Given the description of an element on the screen output the (x, y) to click on. 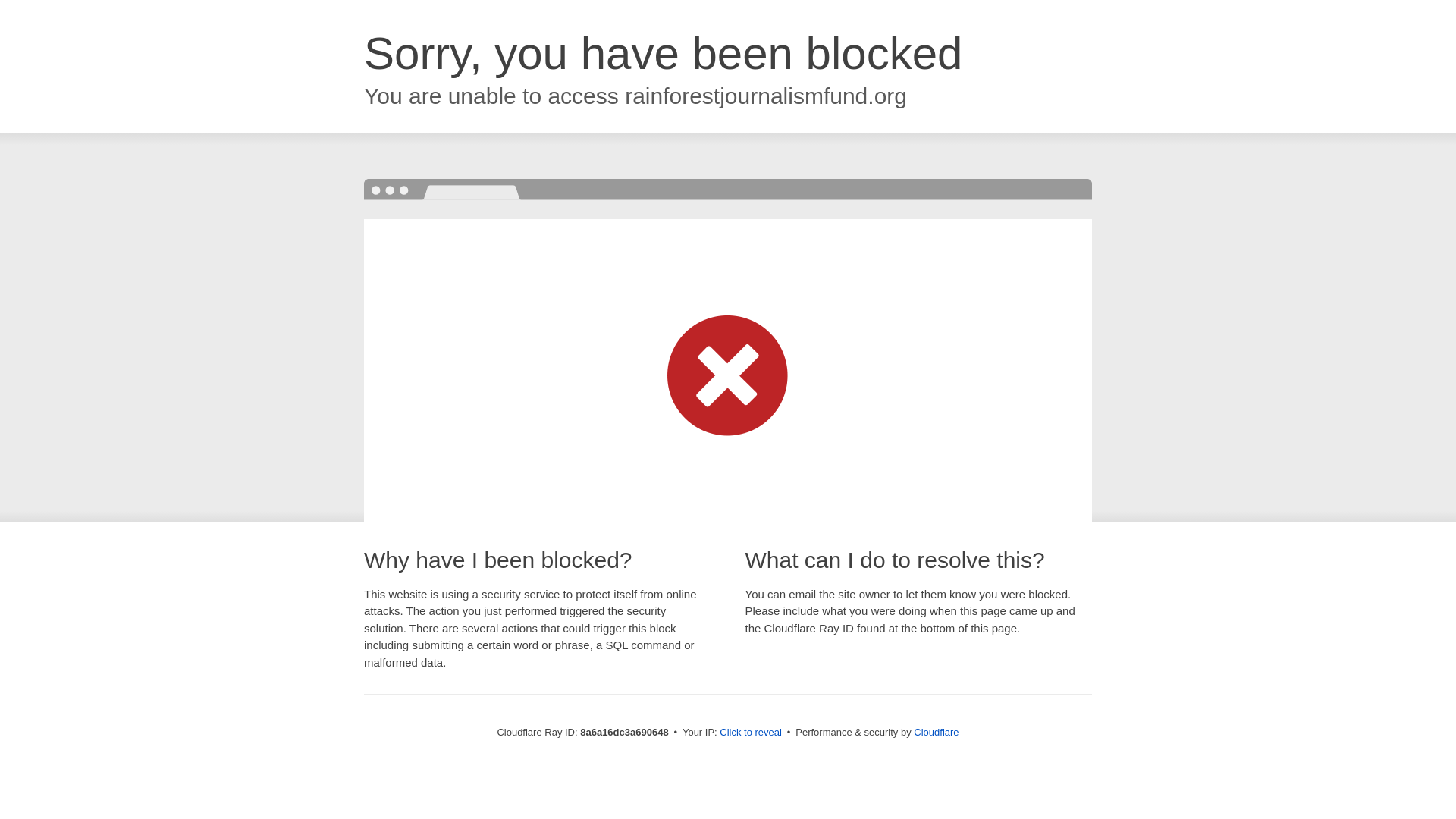
Cloudflare (936, 731)
Click to reveal (750, 732)
